Given the description of an element on the screen output the (x, y) to click on. 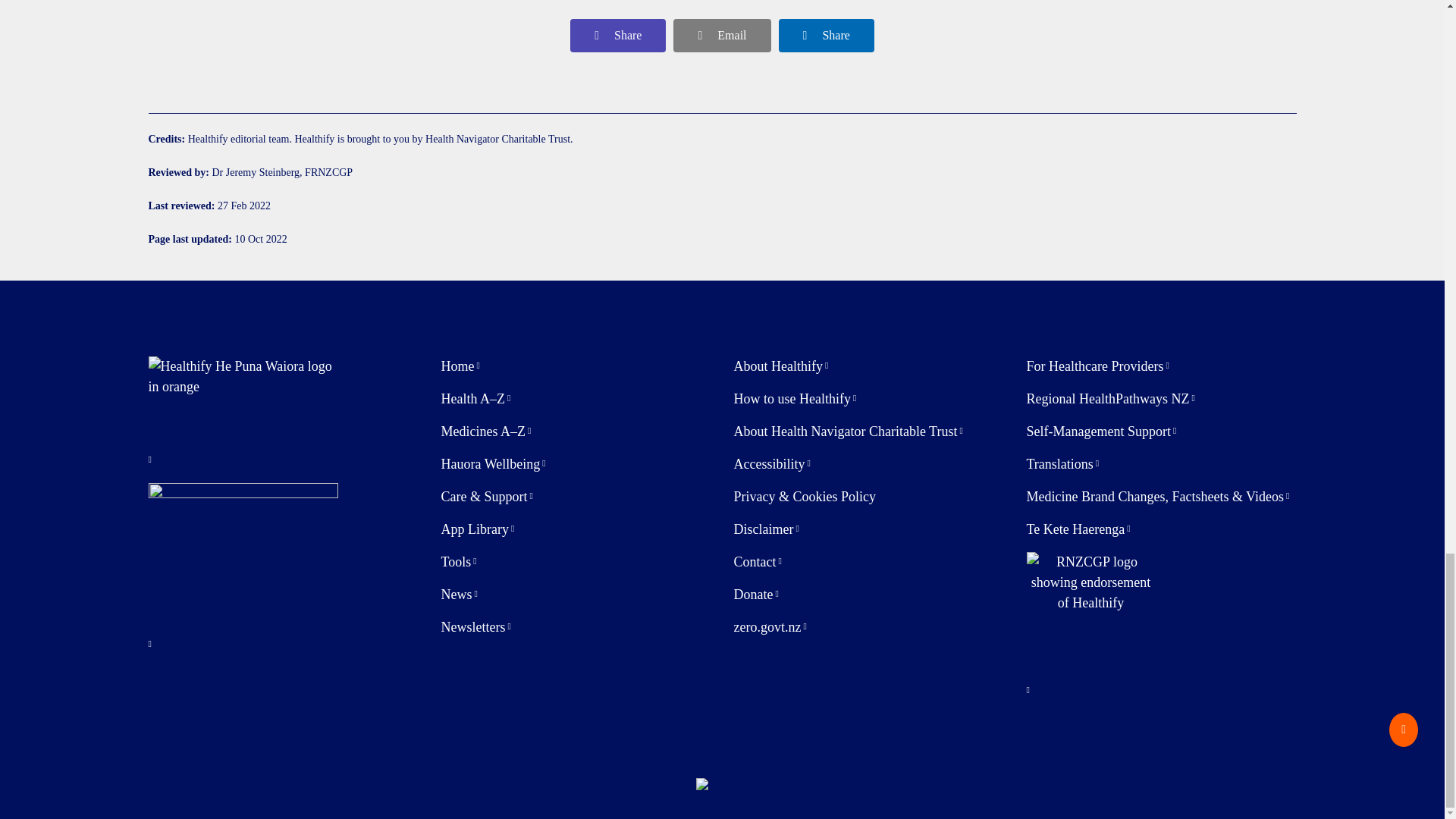
How to use the Healthify He Puna Waiora website (795, 399)
Zero data link (769, 627)
